Given the description of an element on the screen output the (x, y) to click on. 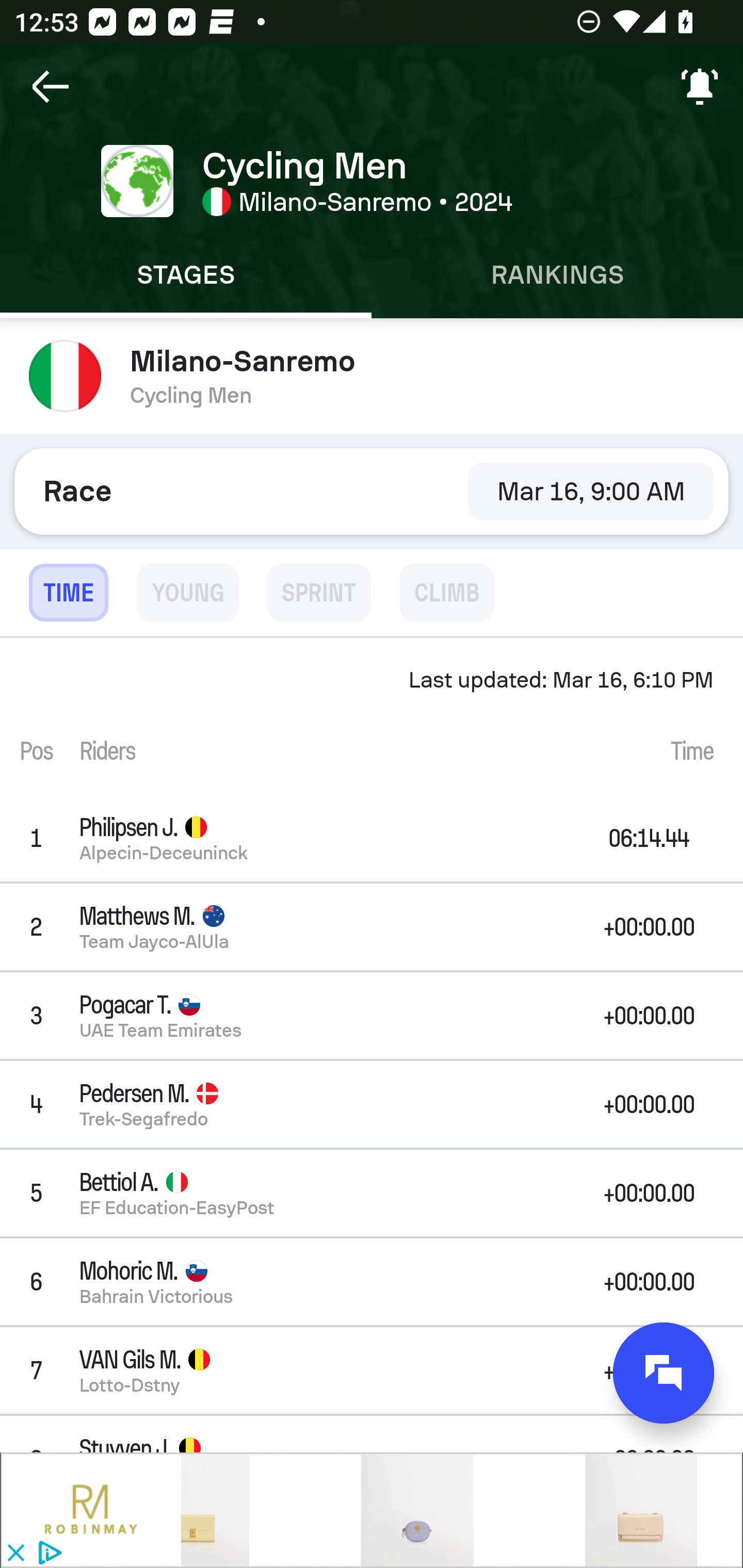
Navigate up (50, 86)
Rankings RANKINGS (557, 275)
Race Mar 16, 9:00 AM (371, 491)
Mar 16, 9:00 AM (591, 491)
TIME (68, 592)
Last updated: Mar 16, 6:10 PM Pos Riders Time (371, 716)
1 Philipsen J. Alpecin-Deceuninck 06:14.44 (371, 837)
2 Matthews M. Team Jayco-AlUla +00:00.00 (371, 926)
3 Pogacar T. UAE Team Emirates +00:00.00 (371, 1015)
4 Pedersen M. Trek-Segafredo +00:00.00 (371, 1104)
5 Bettiol A. EF Education-EasyPost +00:00.00 (371, 1192)
6 Mohoric M. Bahrain Victorious +00:00.00 (371, 1281)
CHAT (663, 1372)
7 VAN Gils M. Lotto-Dstny +00:00.00 (371, 1370)
privacy_small close_button                      (371, 1509)
close_button (14, 1553)
privacy_small (47, 1553)
